Given the description of an element on the screen output the (x, y) to click on. 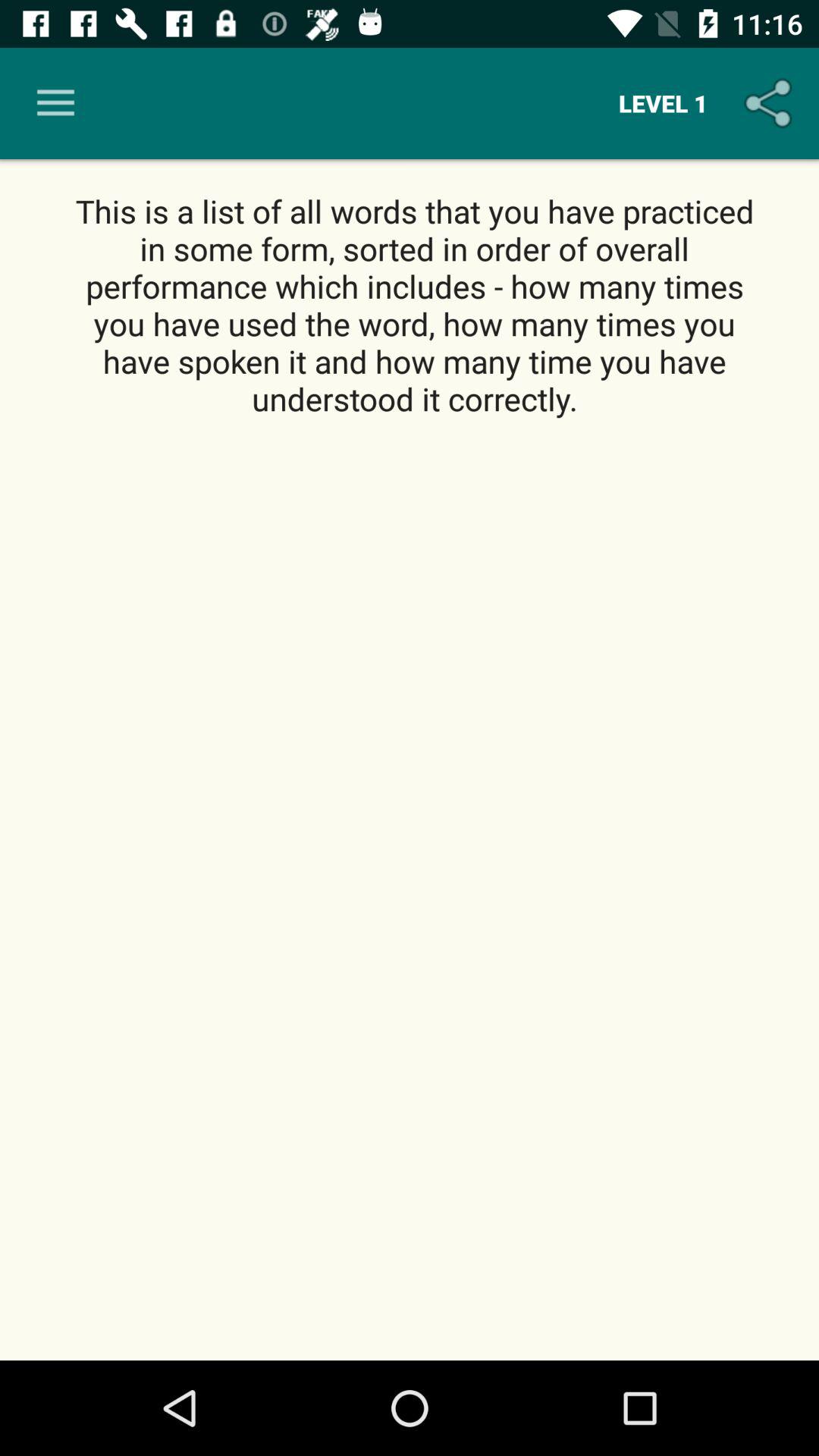
turn off item at the top left corner (55, 103)
